Given the description of an element on the screen output the (x, y) to click on. 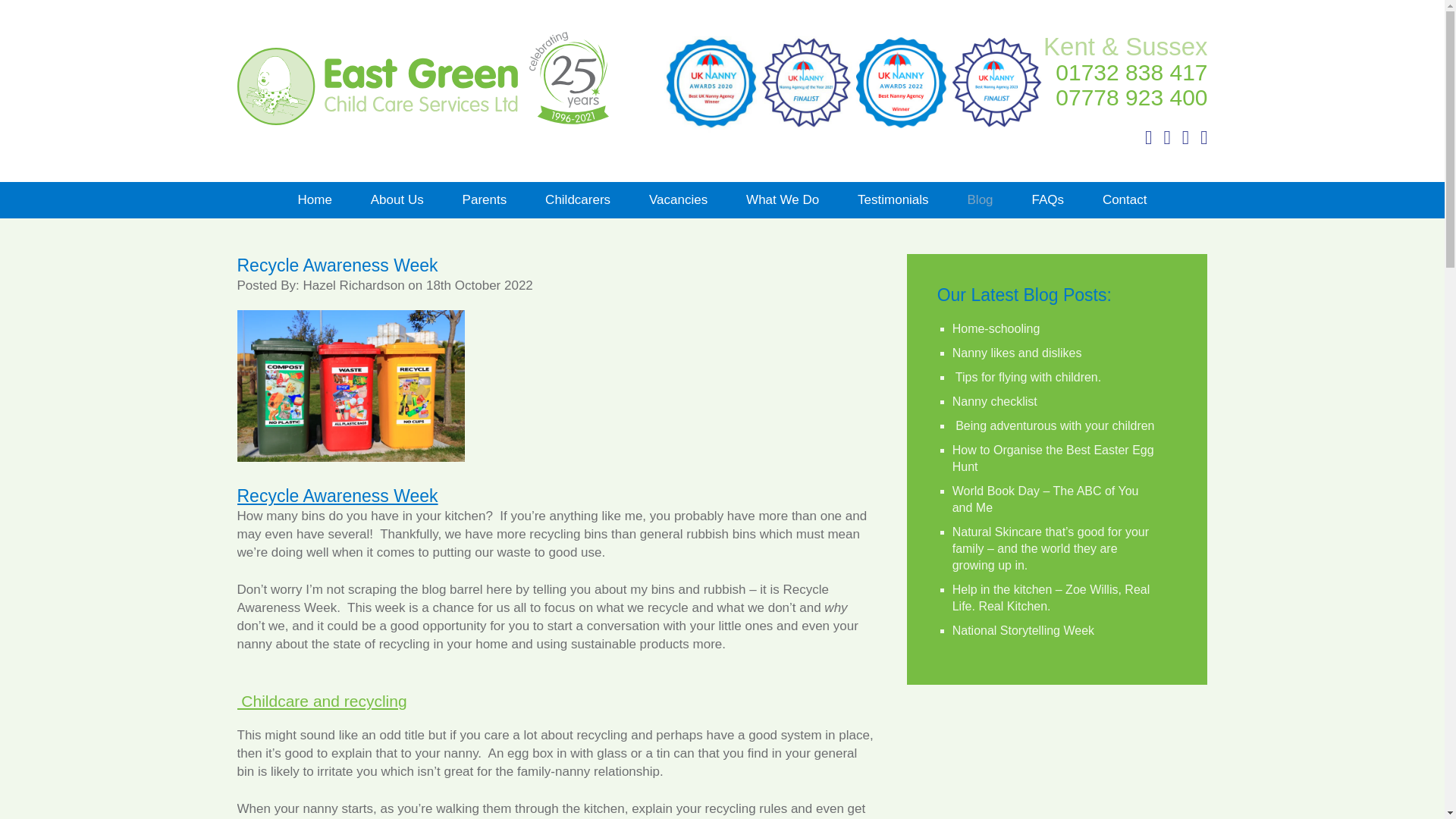
Vacancies (678, 199)
Childcarers (577, 199)
01732 838 417 (1131, 72)
About Us (397, 199)
National Storytelling Week (1023, 630)
Parents (484, 199)
 Being adventurous with your children (1053, 425)
Testimonials (892, 199)
Contact (1124, 199)
FAQs (1047, 199)
Home (314, 199)
Nanny checklist (994, 400)
Blog (980, 199)
Nanny likes and dislikes (1016, 352)
How to Organise the Best Easter Egg Hunt (1053, 458)
